Given the description of an element on the screen output the (x, y) to click on. 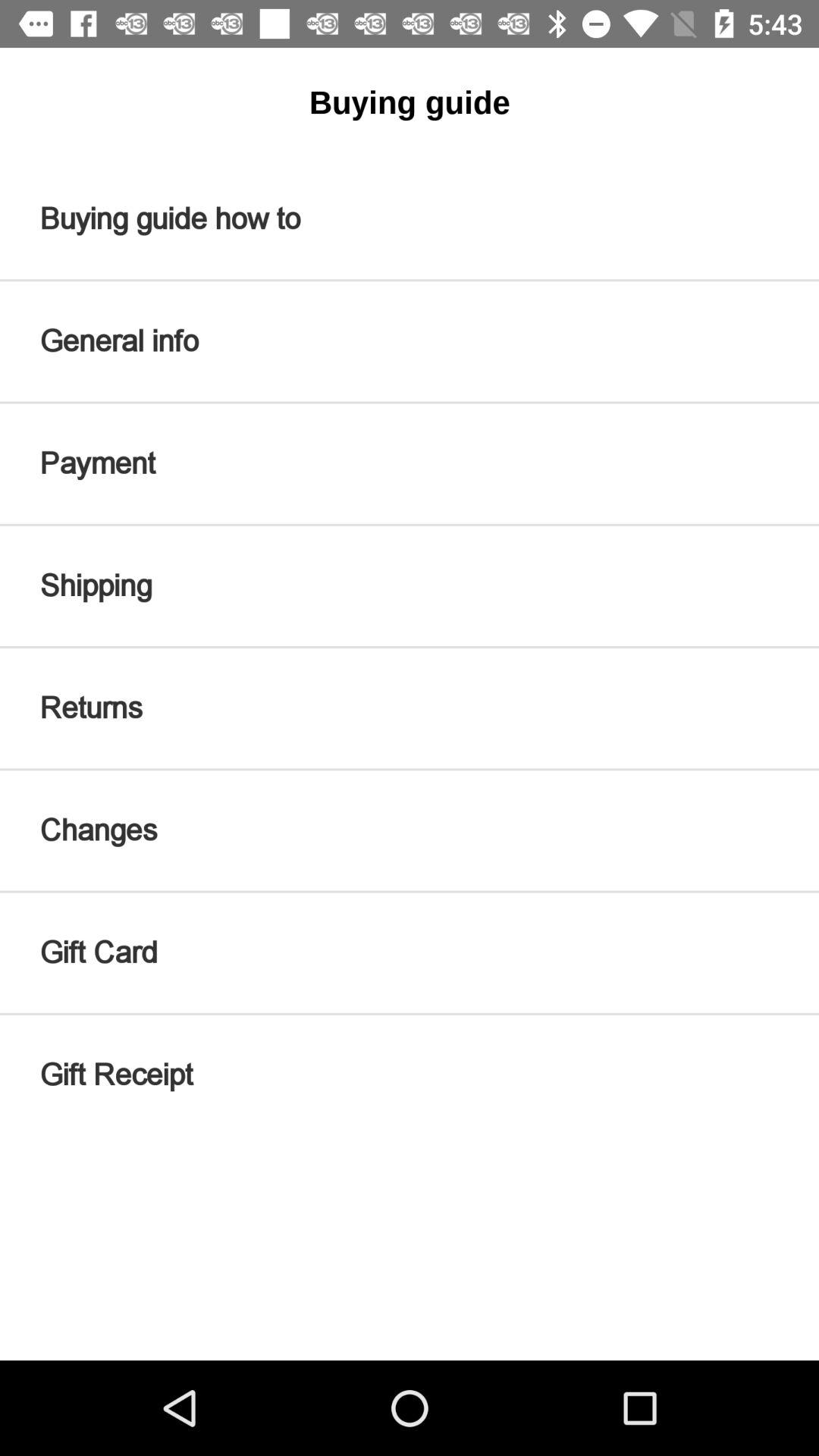
flip until gift card icon (409, 952)
